Given the description of an element on the screen output the (x, y) to click on. 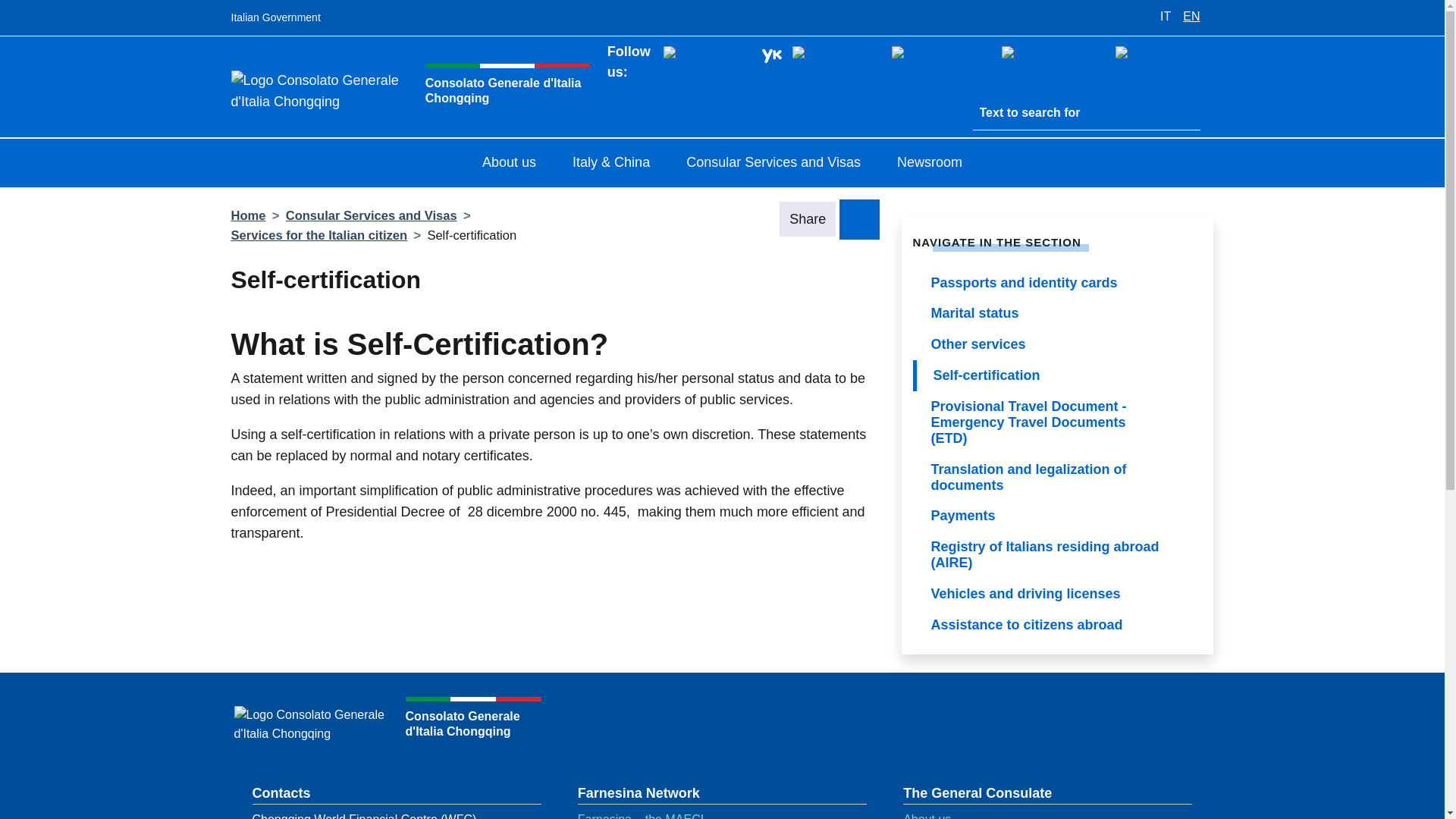
Payments (1057, 515)
Services for the Italian citizen (318, 235)
About us (509, 163)
Payments (1057, 515)
Marital status (1057, 314)
Vehicles and driving licenses (1057, 593)
Newsroom (929, 163)
Other services (1057, 344)
Assistance to citizens abroad (1057, 624)
Translation and legalization of documents (1057, 477)
Consular Services and Visas (773, 163)
Translation and legalization of documents (1057, 477)
Self-certification (1057, 375)
Passports and identity cards (1057, 282)
